Given the description of an element on the screen output the (x, y) to click on. 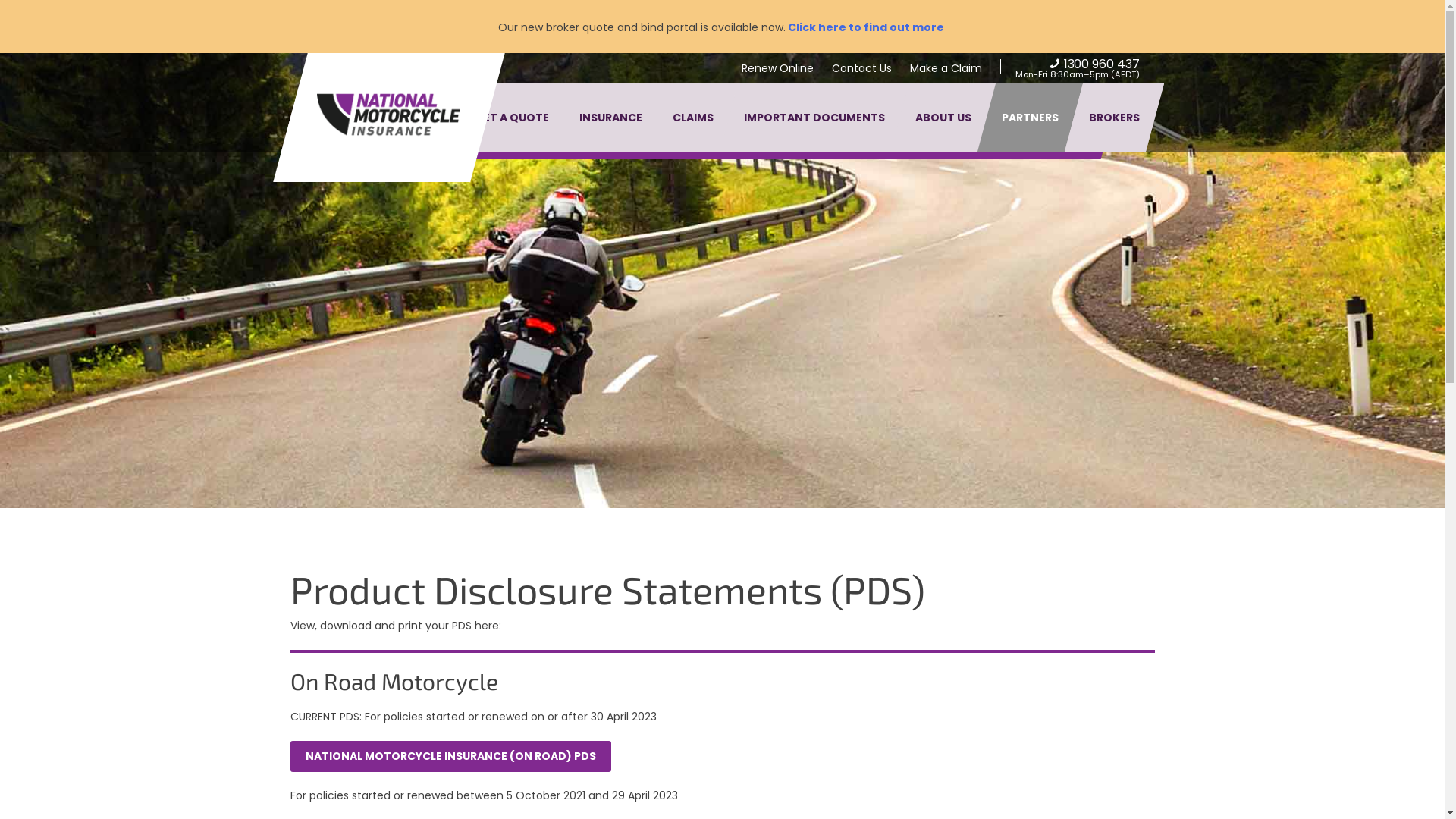
GET A QUOTE Element type: text (511, 117)
NATIONAL MOTORCYCLE INSURANCE (ON ROAD) PDS Element type: text (449, 755)
Click here to find out more Element type: text (864, 26)
CLAIMS Element type: text (692, 117)
IMPORTANT DOCUMENTS Element type: text (813, 117)
INSURANCE Element type: text (610, 117)
ABOUT US Element type: text (942, 117)
Contact Us Element type: text (860, 67)
Renew Online Element type: text (777, 67)
BROKERS Element type: text (1113, 117)
PARTNERS Element type: text (1029, 117)
Make a Claim Element type: text (945, 67)
